Given the description of an element on the screen output the (x, y) to click on. 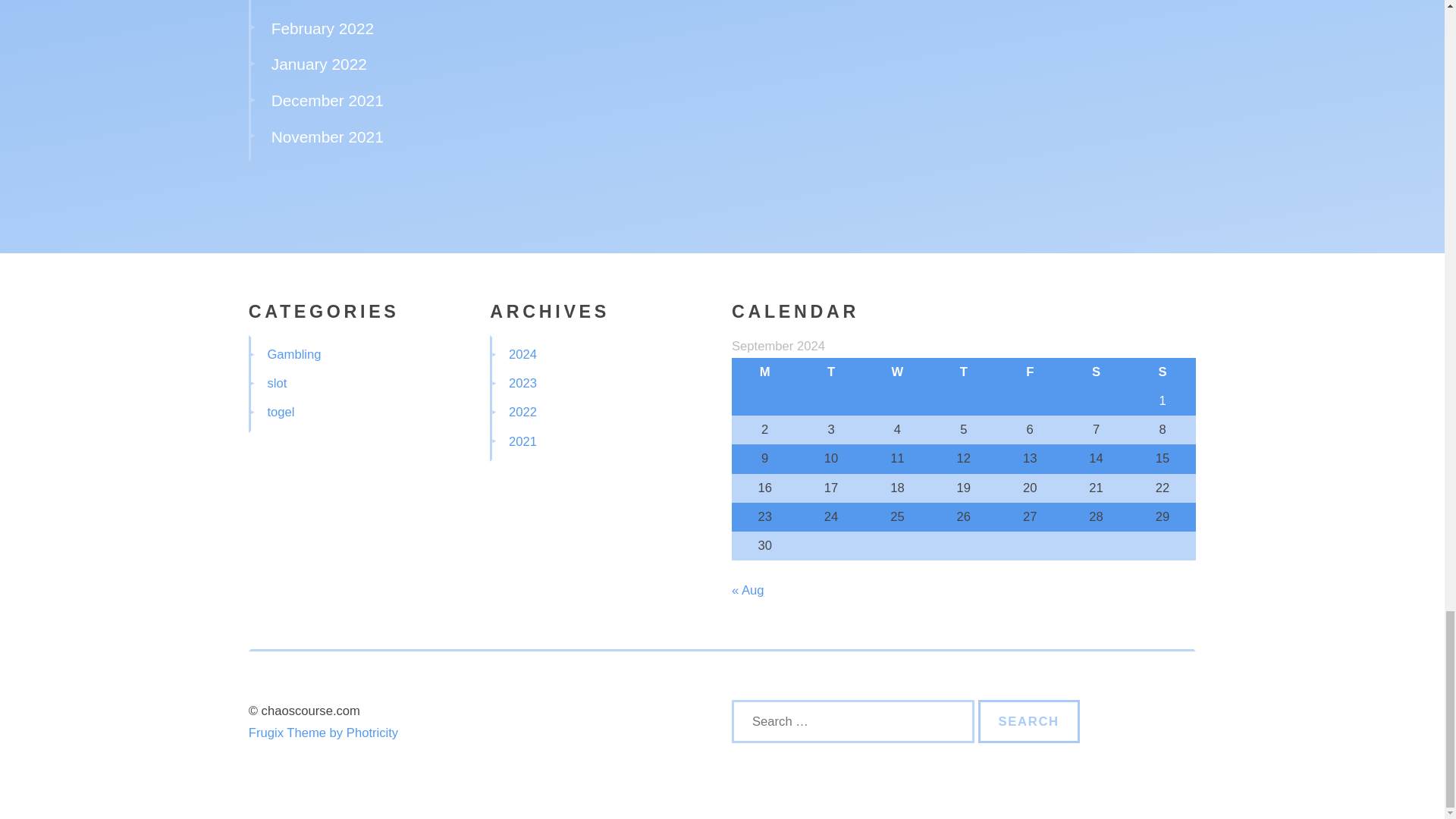
Sunday (1162, 371)
Search (1029, 720)
Wednesday (897, 371)
Search (1029, 720)
Saturday (1095, 371)
Thursday (962, 371)
Tuesday (830, 371)
Monday (764, 371)
Friday (1029, 371)
